Given the description of an element on the screen output the (x, y) to click on. 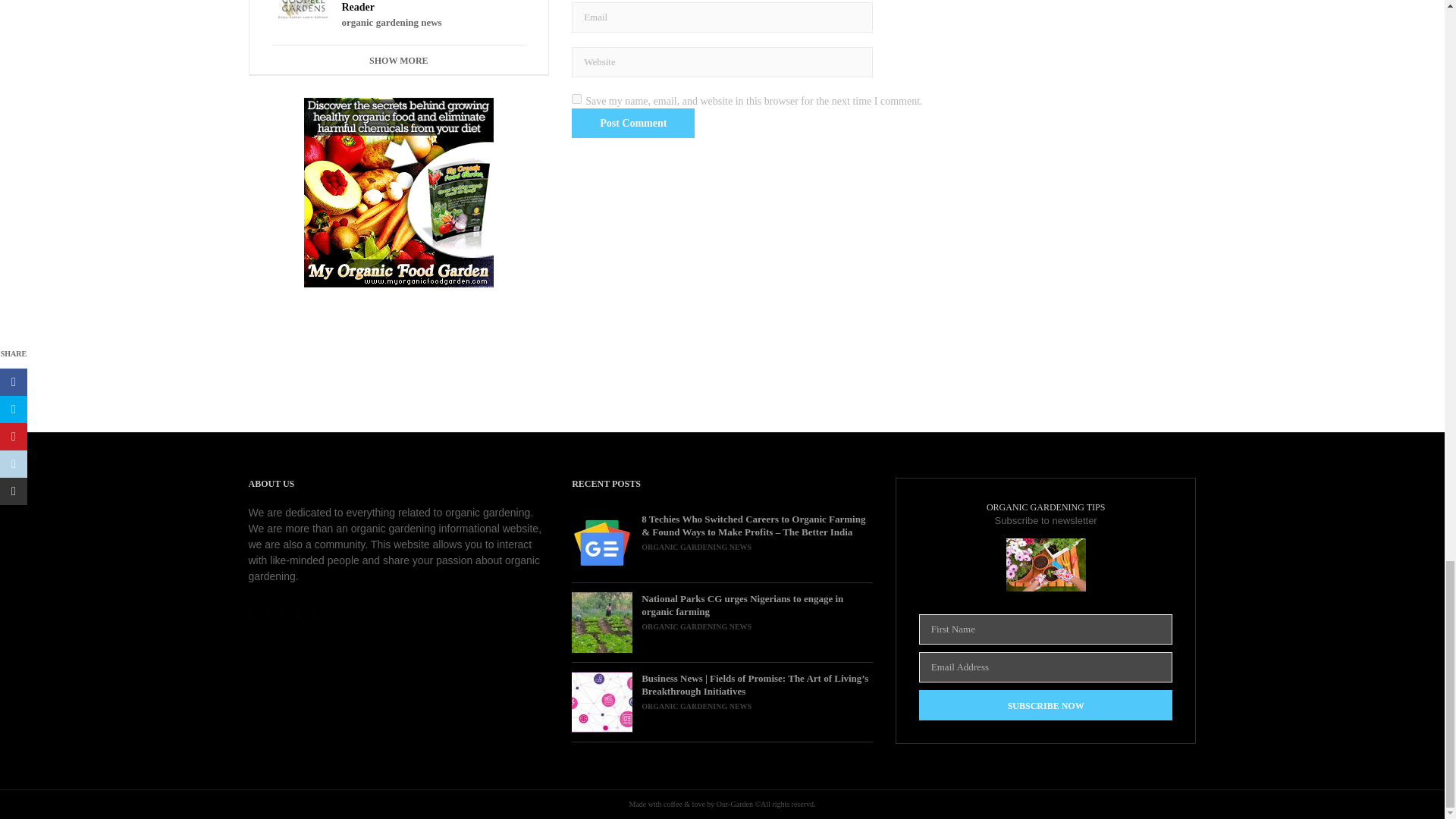
yes (576, 99)
Subscribe Now (1046, 705)
Post Comment (633, 123)
